Given the description of an element on the screen output the (x, y) to click on. 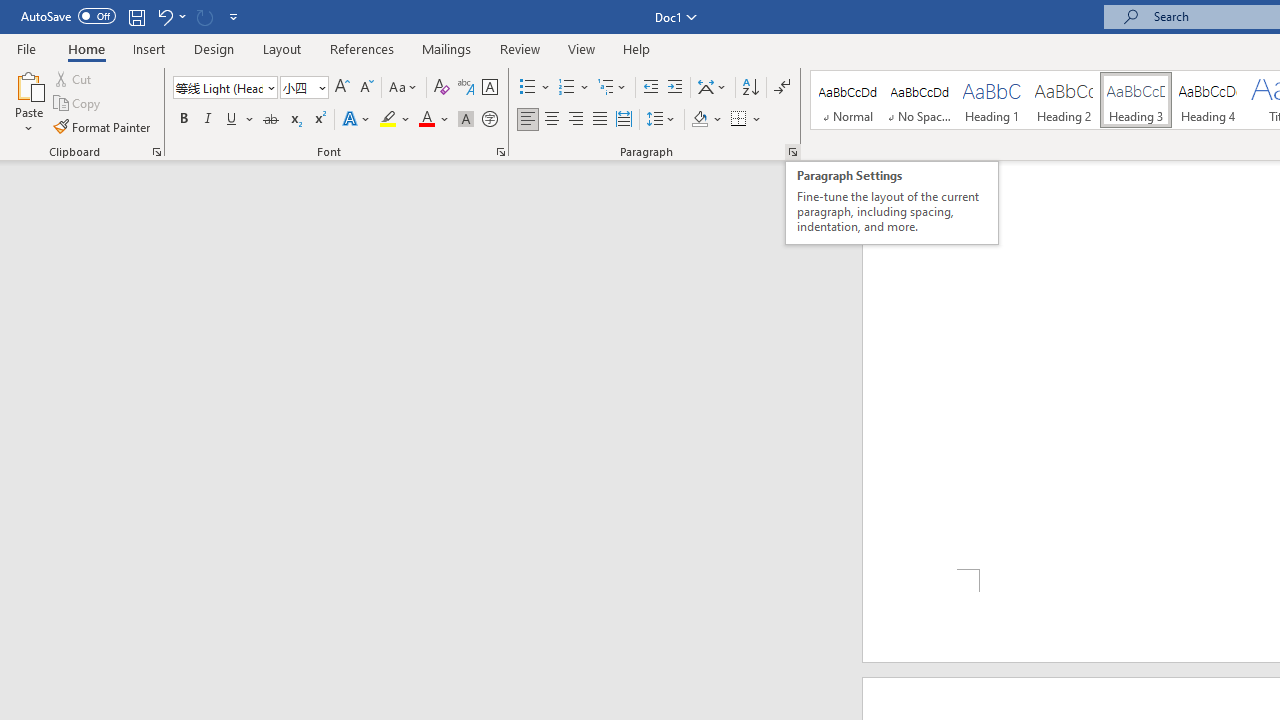
Office Clipboard... (156, 151)
Font... (500, 151)
Font Color (434, 119)
Format Painter (103, 126)
Enclose Characters... (489, 119)
Superscript (319, 119)
